Given the description of an element on the screen output the (x, y) to click on. 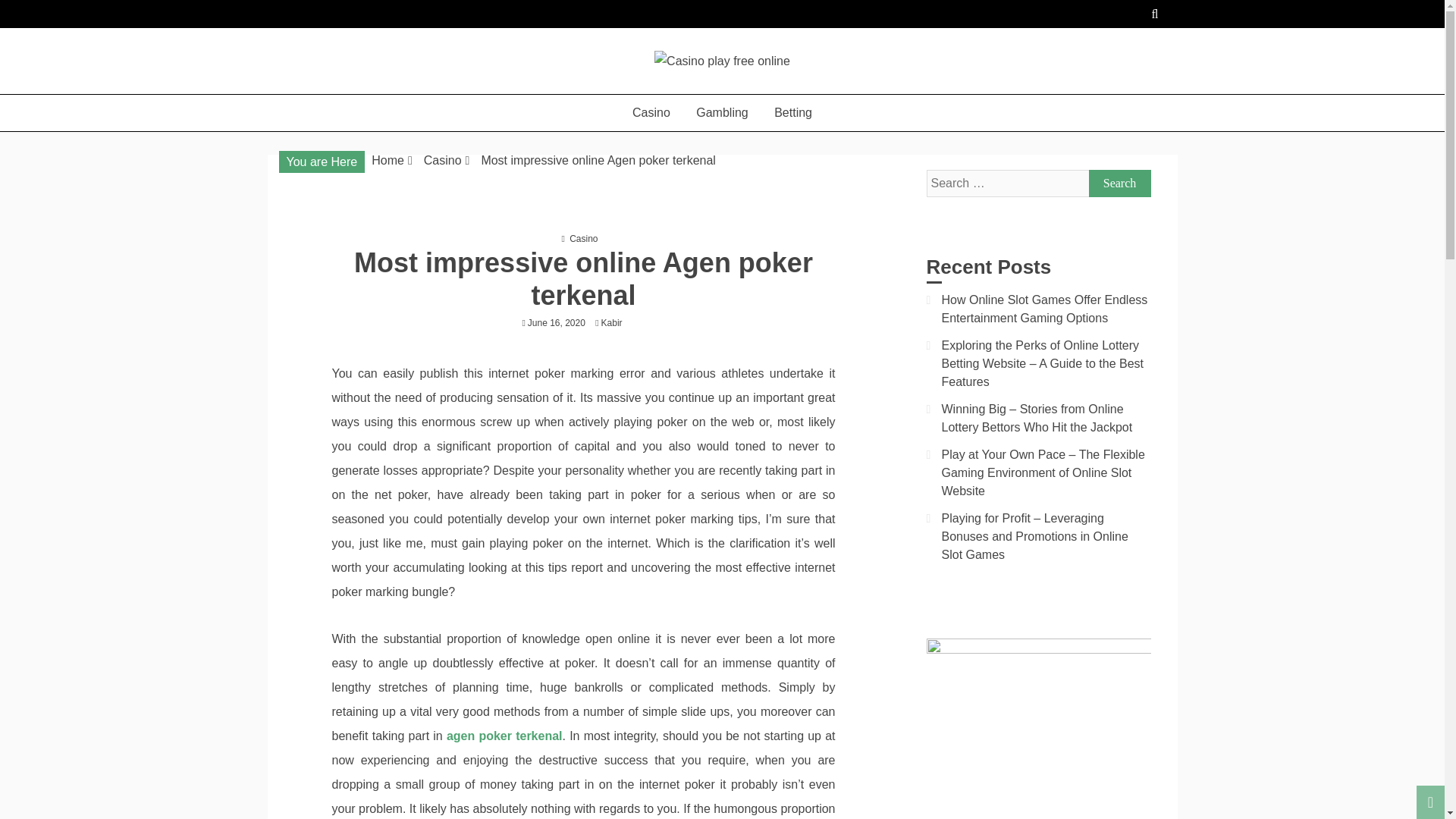
Gambling (721, 112)
agen poker terkenal (504, 735)
Kabir (615, 322)
Search (1120, 183)
Betting (793, 112)
Most impressive online Agen poker terkenal (598, 160)
June 16, 2020 (556, 322)
Search (1120, 183)
Search (1120, 183)
